Given the description of an element on the screen output the (x, y) to click on. 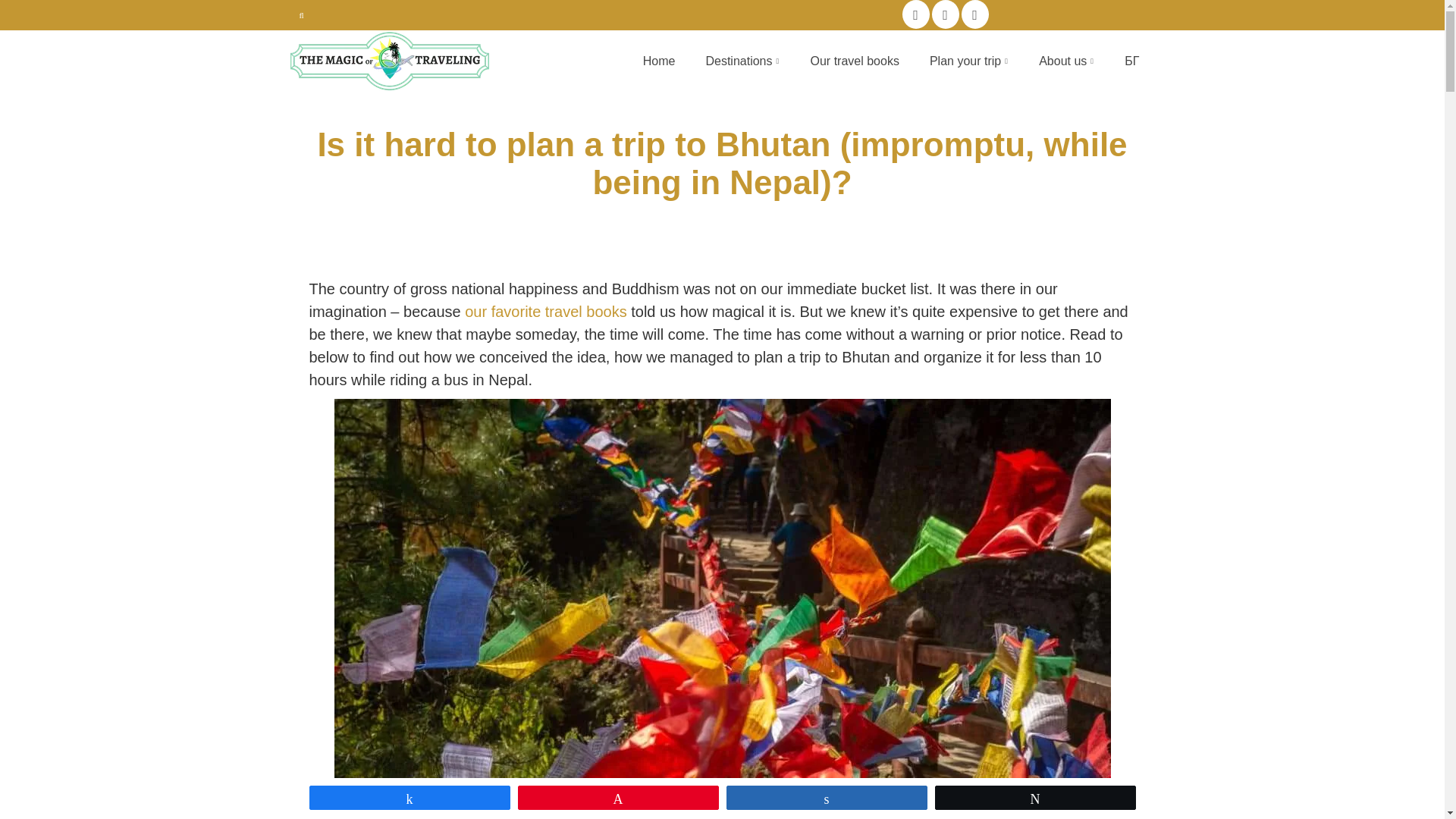
About us (1066, 61)
Home (658, 61)
Destinations (742, 61)
our favorite travel books (545, 311)
Plan your trip (968, 61)
Our travel books (854, 61)
